Given the description of an element on the screen output the (x, y) to click on. 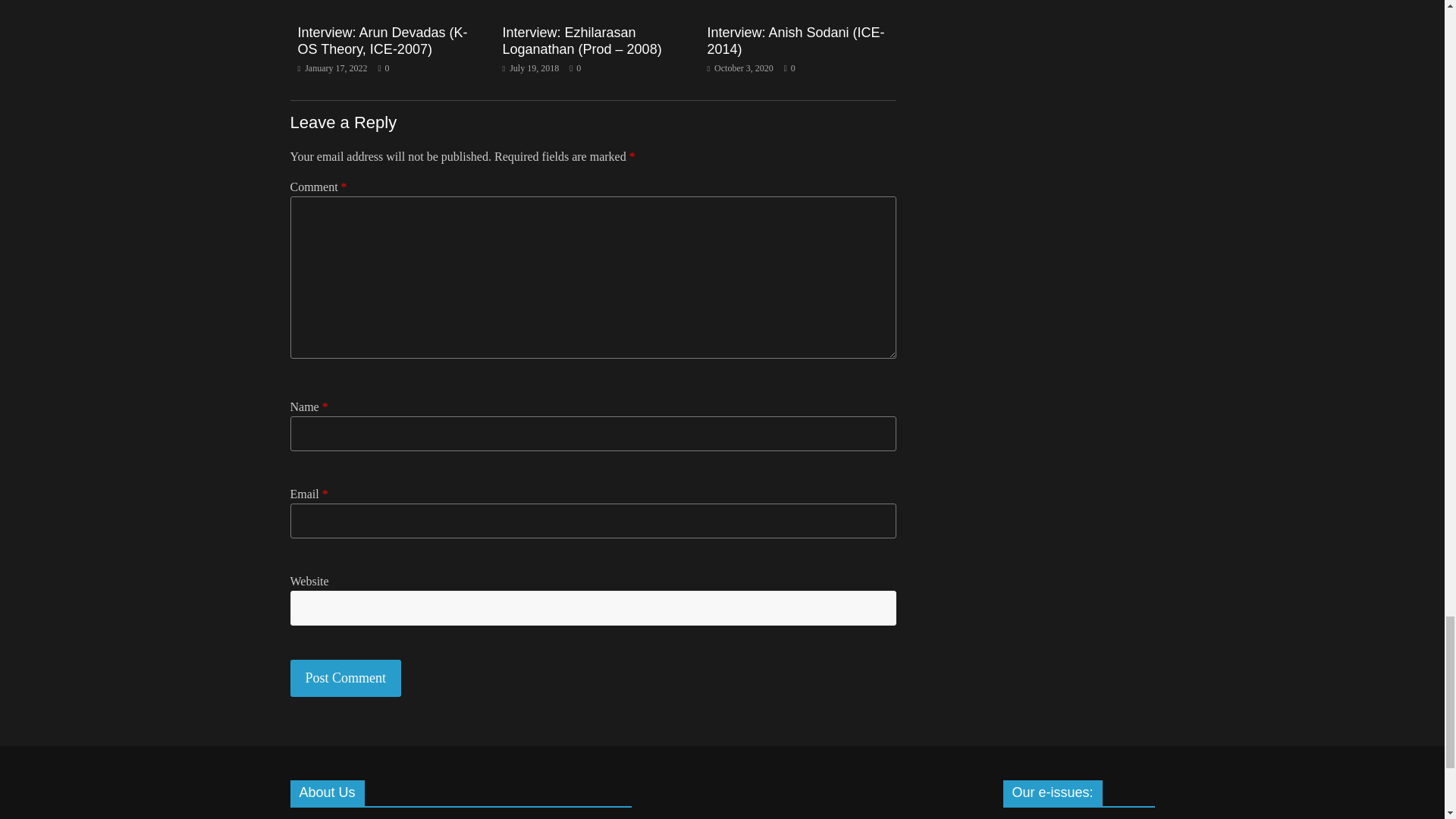
Post Comment (345, 678)
8:01 pm (331, 68)
